Given the description of an element on the screen output the (x, y) to click on. 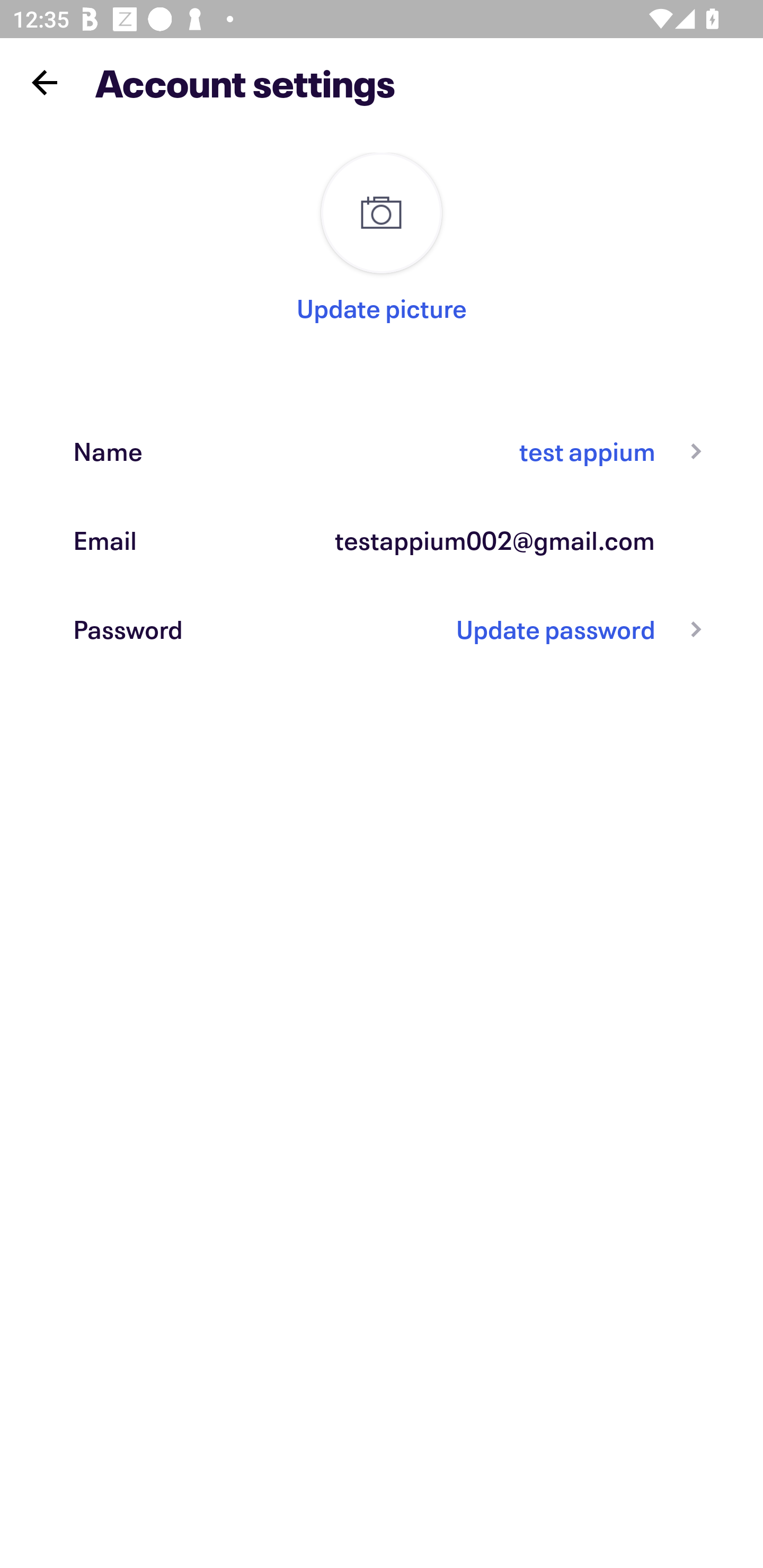
Navigate up (44, 82)
Update picture (381, 307)
Name test appium Image (381, 450)
Password Update password Image (381, 629)
